Given the description of an element on the screen output the (x, y) to click on. 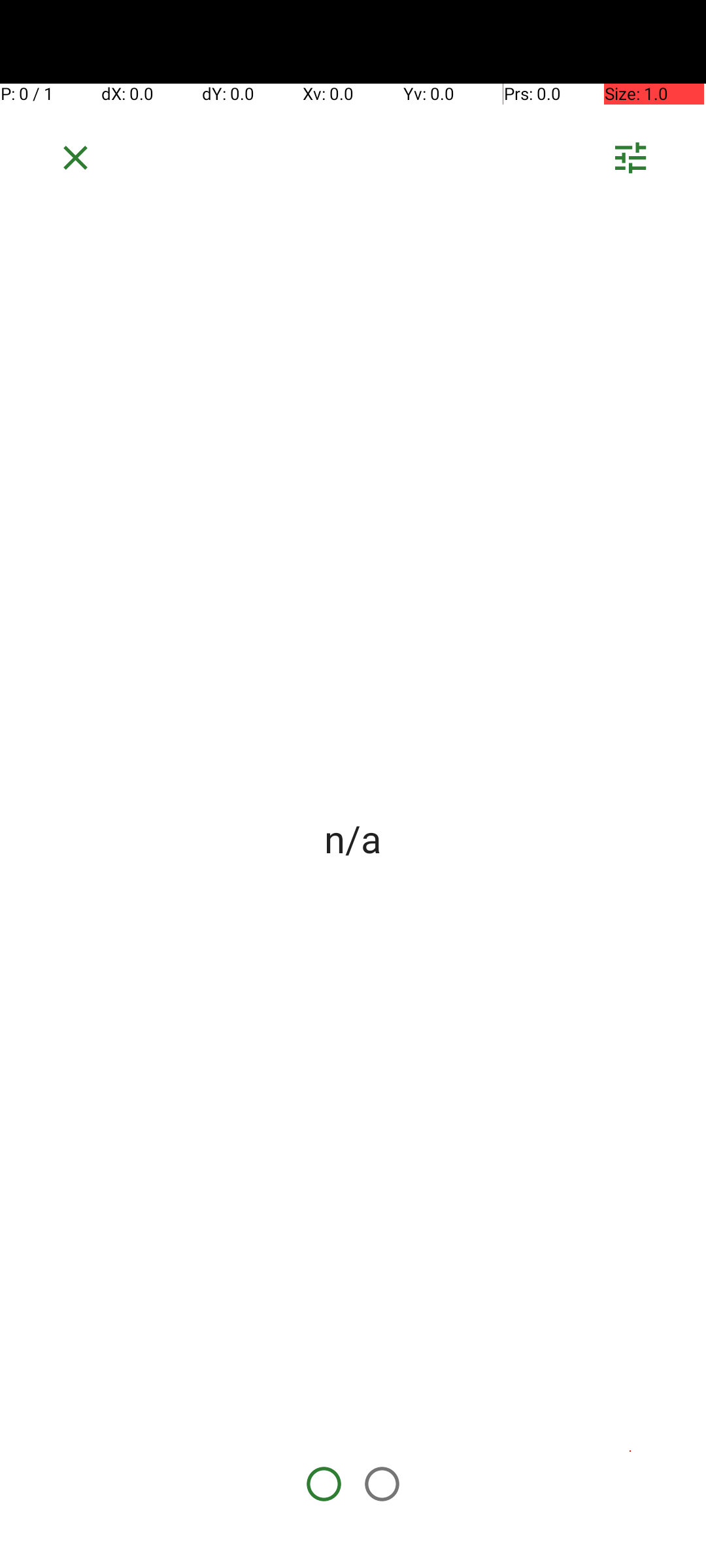
n/a Element type: android.widget.TextView (352, 838)
